Given the description of an element on the screen output the (x, y) to click on. 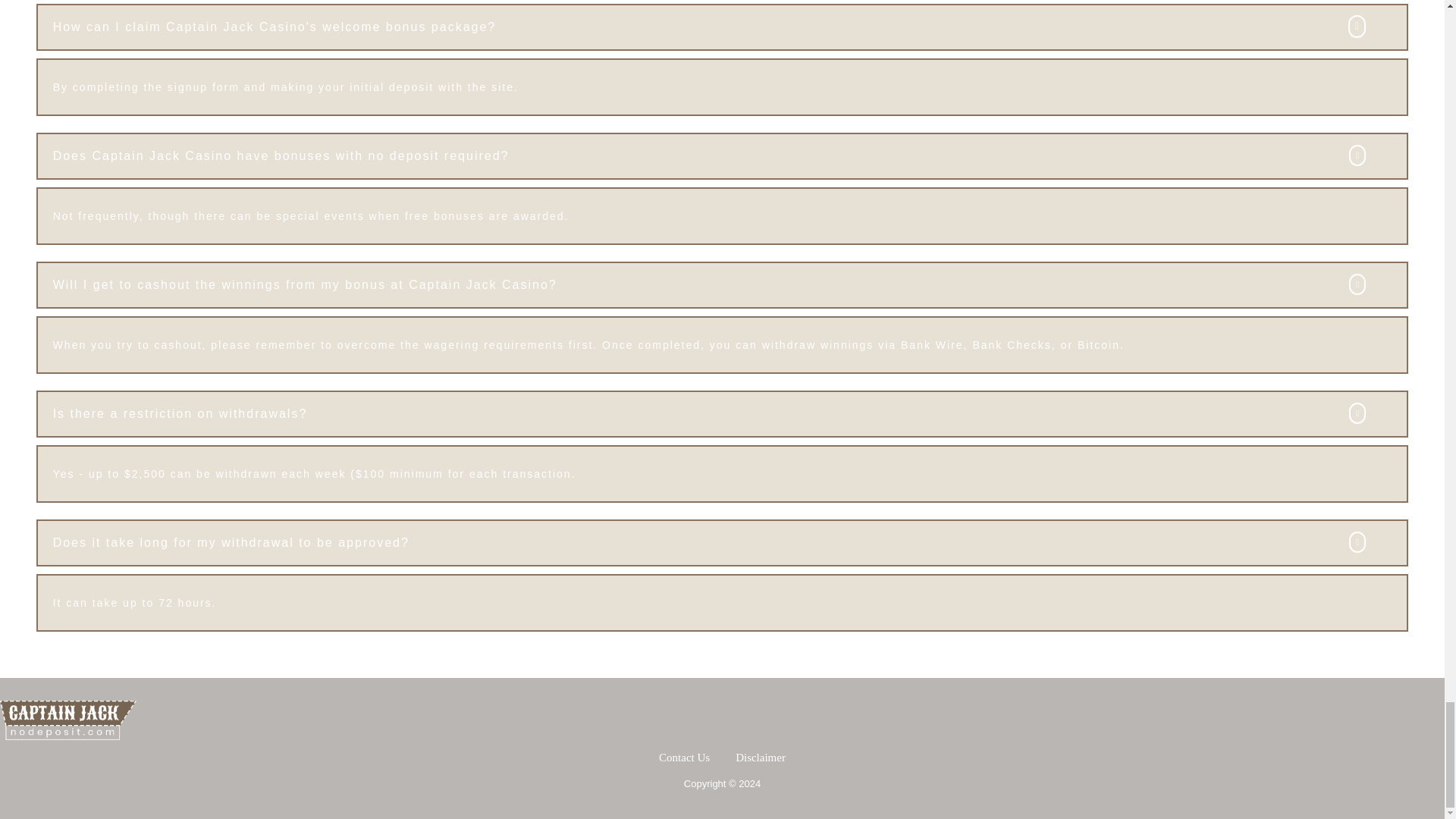
Does it take long for my withdrawal to be approved? (722, 542)
How can I claim Captain Jack Casino's welcome bonus package? (722, 27)
Contact Us (683, 757)
Disclaimer (759, 757)
Is there a restriction on withdrawals? (722, 413)
